Given the description of an element on the screen output the (x, y) to click on. 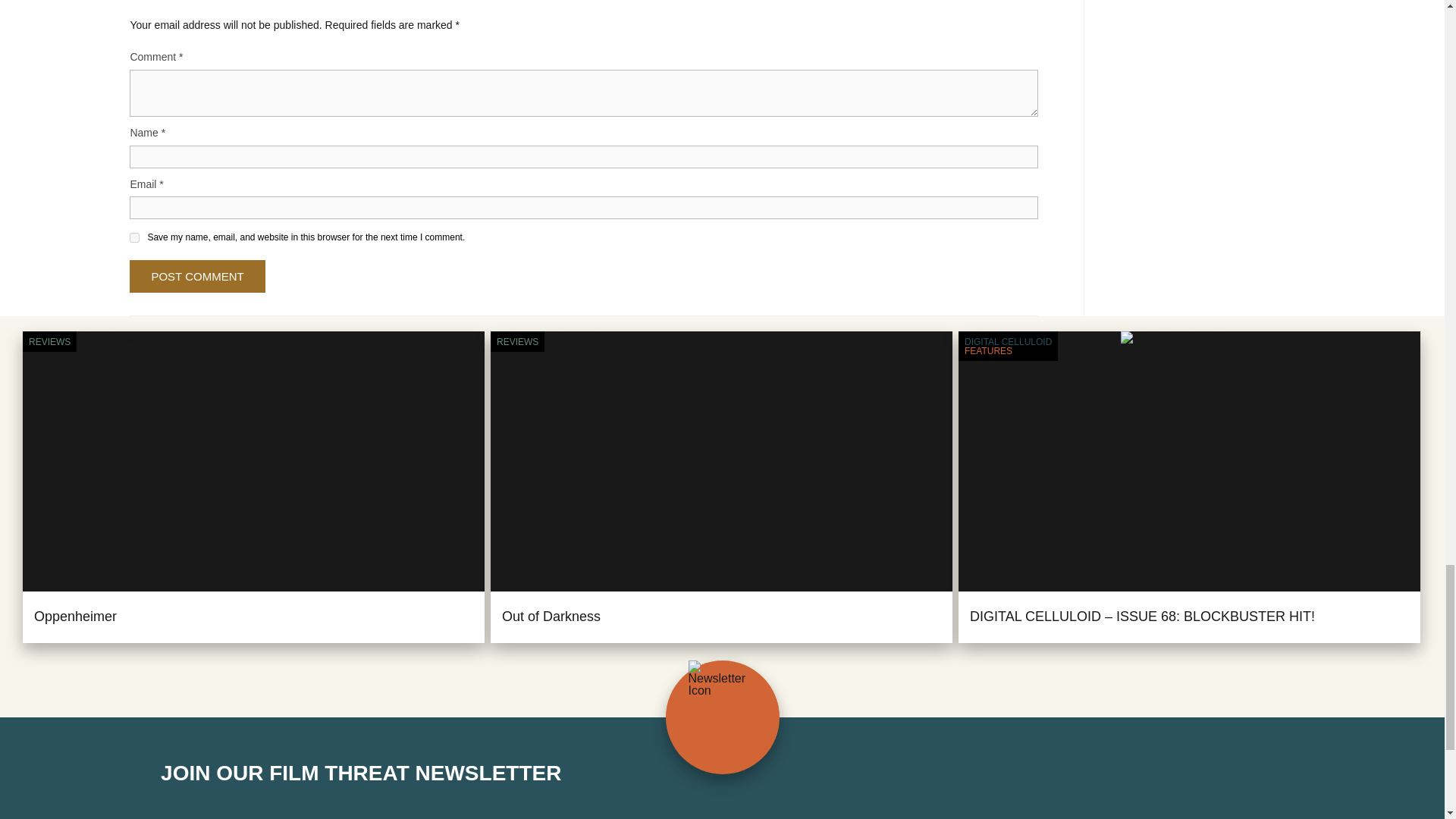
DIGITAL CELLULOID (1007, 341)
Post Comment (196, 276)
Post Comment (196, 276)
Features (1007, 350)
FEATURES (1007, 350)
REVIEWS (517, 341)
REVIEWS (49, 341)
Out of Darkness (550, 616)
yes (134, 237)
Oppenheimer (74, 616)
Digital Celluloid (1007, 341)
Reviews (517, 341)
Reviews (49, 341)
